Given the description of an element on the screen output the (x, y) to click on. 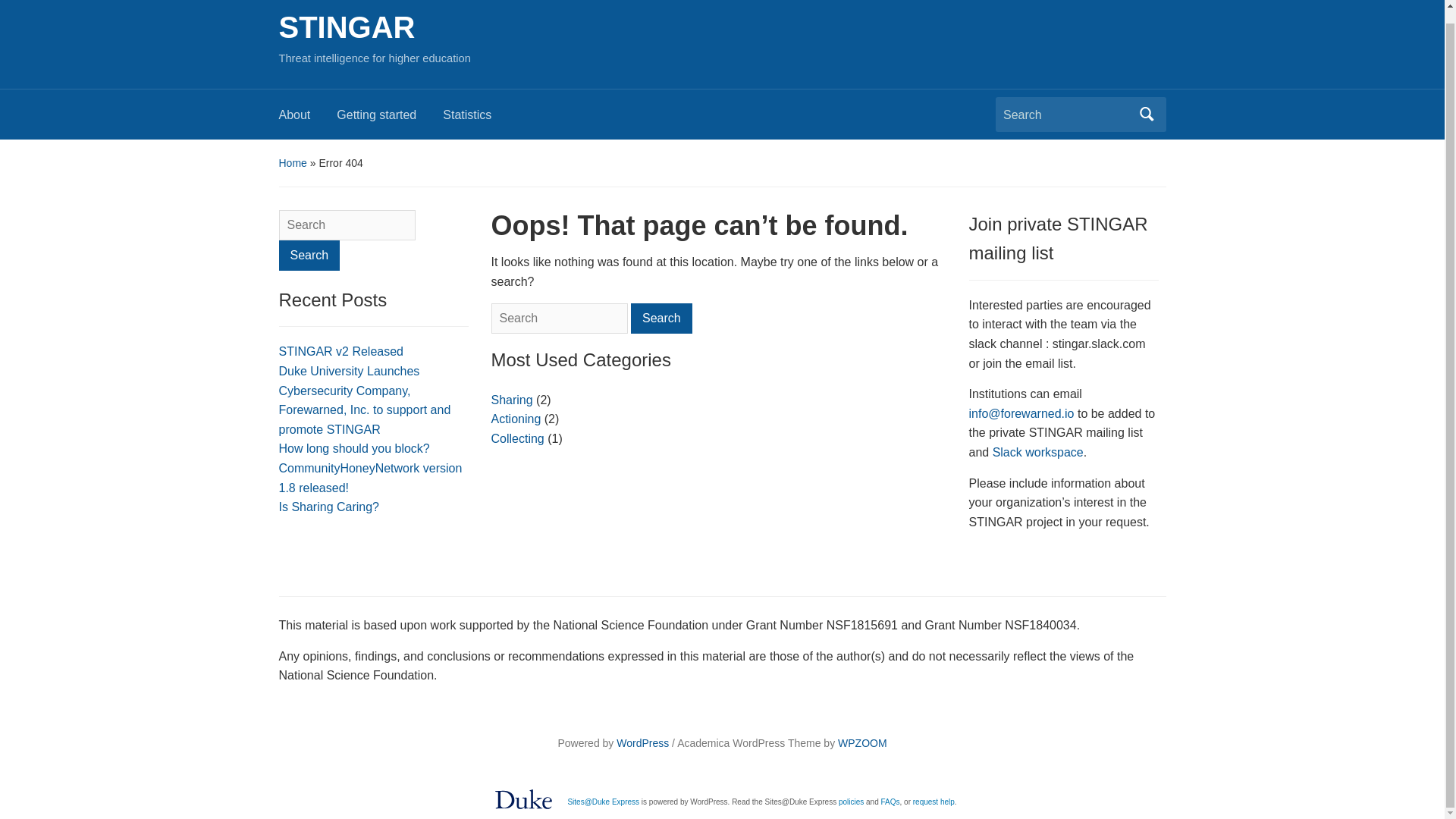
CommunityHoneyNetwork version 1.8 released! (371, 477)
policies (850, 801)
STINGAR v2 Released (341, 350)
Home (293, 162)
WPZOOM (862, 743)
How long should you block? (354, 448)
Slack workspace (1037, 451)
Actioning (516, 418)
STINGAR (346, 27)
Collecting (518, 438)
